Given the description of an element on the screen output the (x, y) to click on. 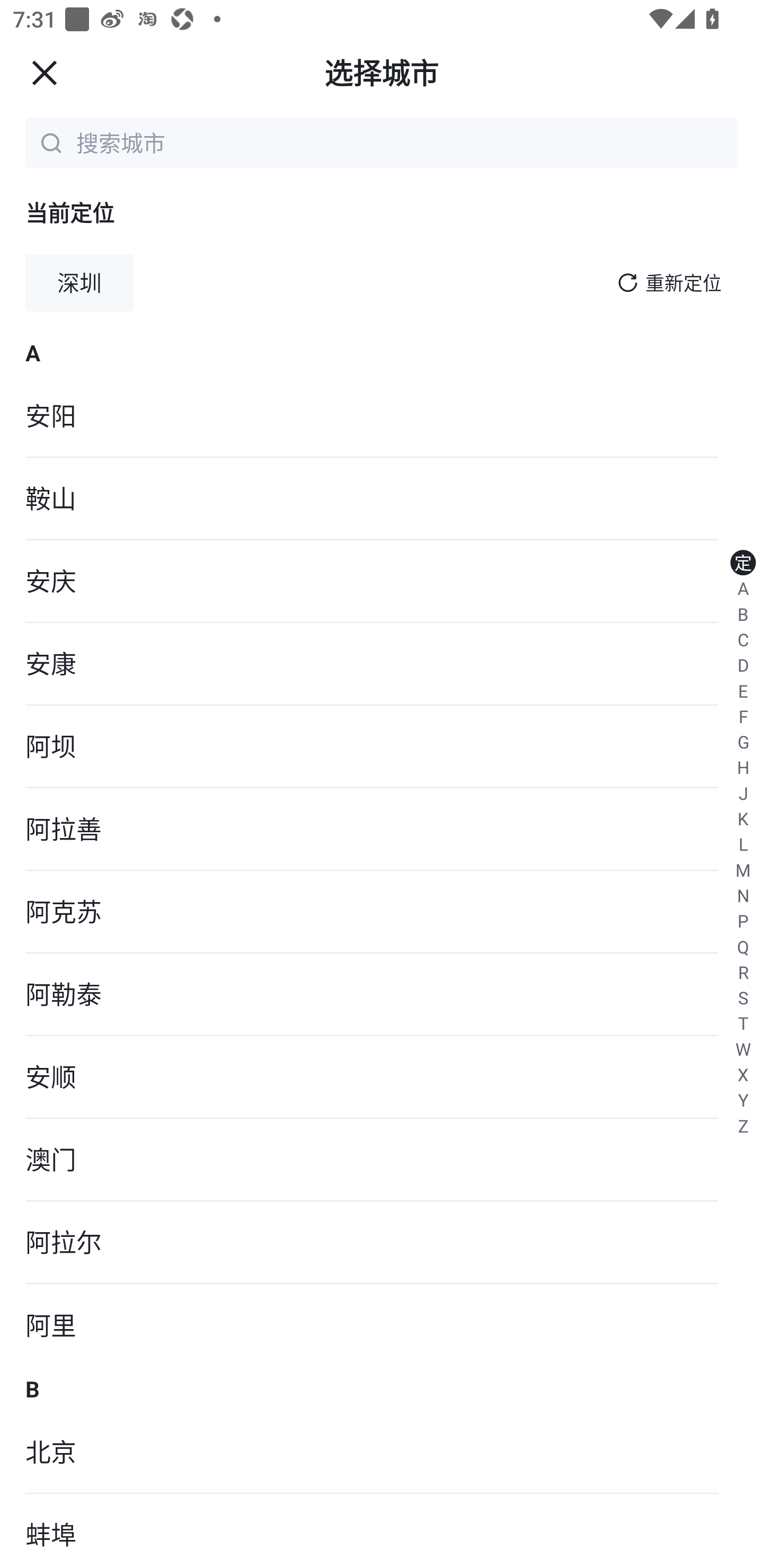
 (44, 71)
搜索城市 (403, 142)
深圳 (79, 283)
重新定位 (683, 282)
 (627, 282)
安阳 (381, 415)
鞍山 (381, 498)
安庆 (381, 581)
安康 (381, 663)
阿坝 (381, 746)
阿拉善 (381, 829)
阿克苏 (381, 911)
阿勒泰 (381, 994)
安顺 (381, 1077)
澳门 (381, 1160)
阿拉尔 (381, 1242)
阿里 (381, 1325)
北京 (381, 1452)
蚌埠 (381, 1531)
